Given the description of an element on the screen output the (x, y) to click on. 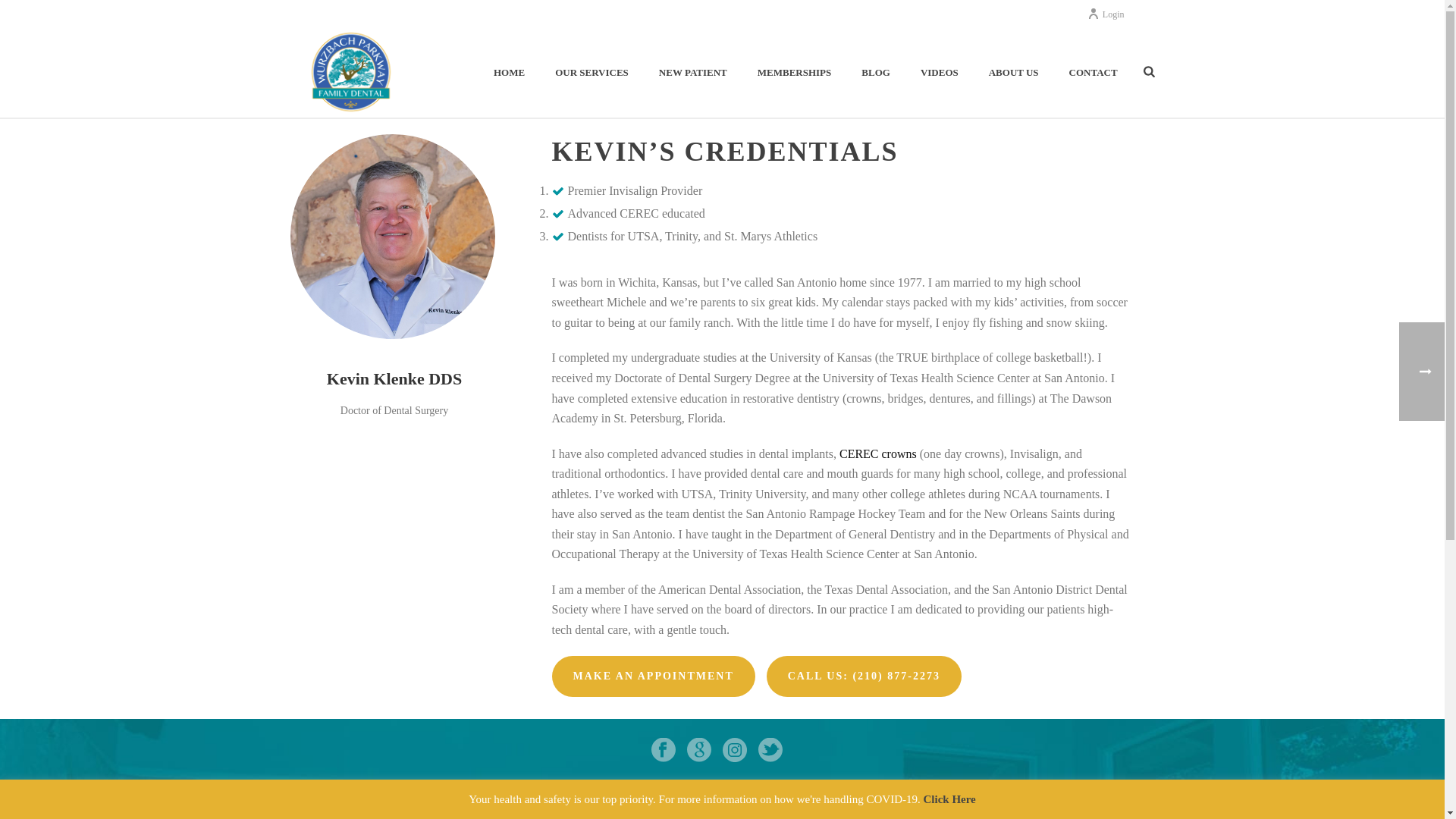
OUR SERVICES (591, 72)
HOME (509, 72)
BLOG (875, 72)
MEMBERSHIPS (794, 72)
Follow Us on twitter (770, 750)
VIDEOS (939, 72)
ABOUT US (1014, 72)
Follow Us on google (699, 750)
San Antonio Dentist 78230 (350, 71)
CONTACT (1093, 72)
Login (1105, 14)
Follow Us on facebook (662, 750)
Kevin Klenke DDS (392, 236)
Follow Us on instagram (733, 750)
OUR SERVICES (591, 72)
